Given the description of an element on the screen output the (x, y) to click on. 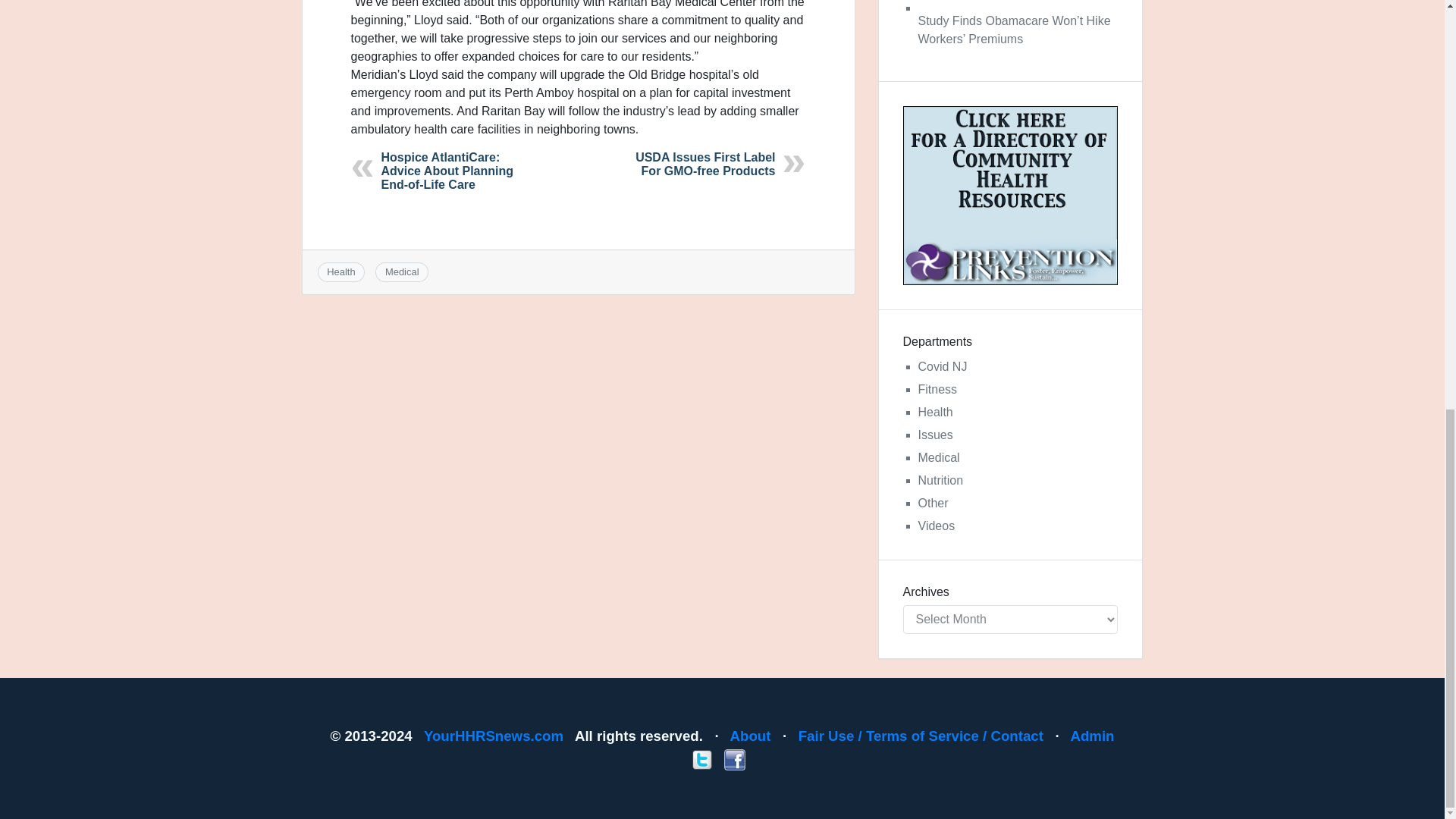
About (750, 735)
Health (934, 411)
Videos (936, 525)
Covid NJ (941, 366)
USDA Issues First Label For GMO-free Products (704, 163)
Health (340, 271)
Medical (402, 271)
YourHHRSnews.com (493, 735)
Other (932, 502)
Hospice AtlantiCare: Advice About Planning End-of-Life Care (446, 170)
